Given the description of an element on the screen output the (x, y) to click on. 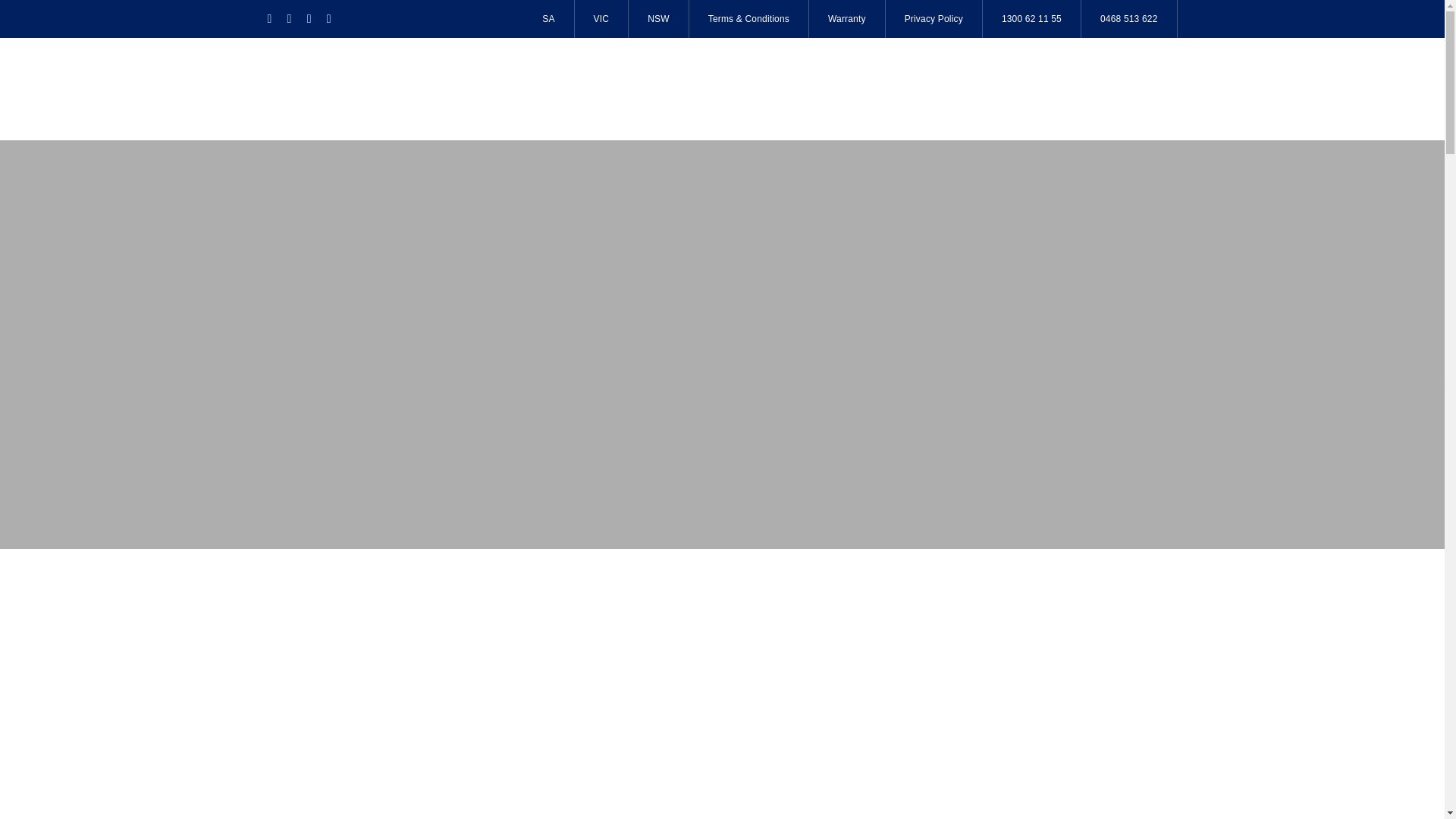
0468 513 622 (1129, 18)
Warranty (847, 18)
1300 62 11 55 (1031, 18)
Privacy Policy (933, 18)
VIC (601, 18)
NSW (658, 18)
SA (547, 18)
